Given the description of an element on the screen output the (x, y) to click on. 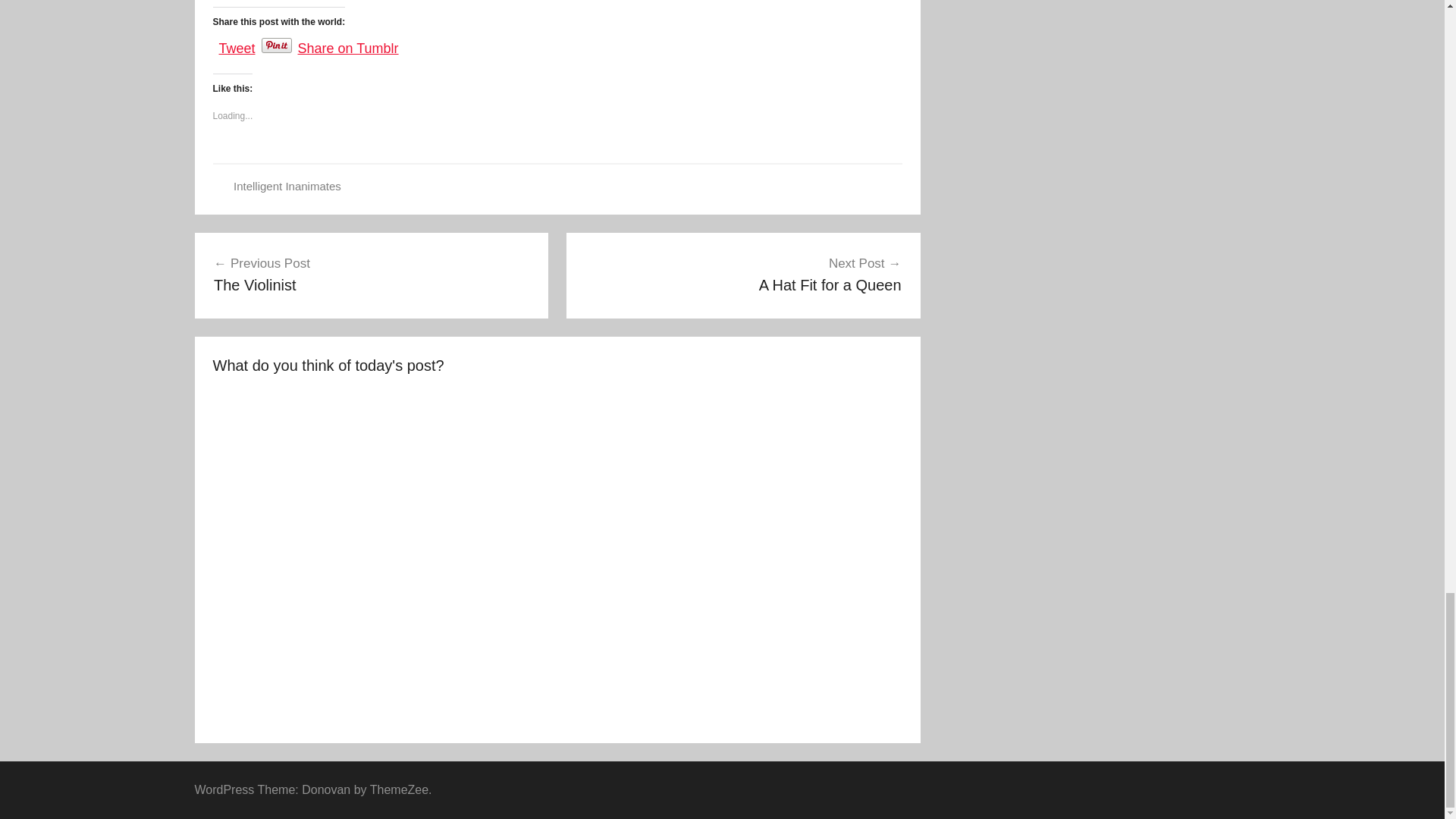
Share on Tumblr (348, 43)
Share on Tumblr (348, 43)
Tweet (236, 43)
